Given the description of an element on the screen output the (x, y) to click on. 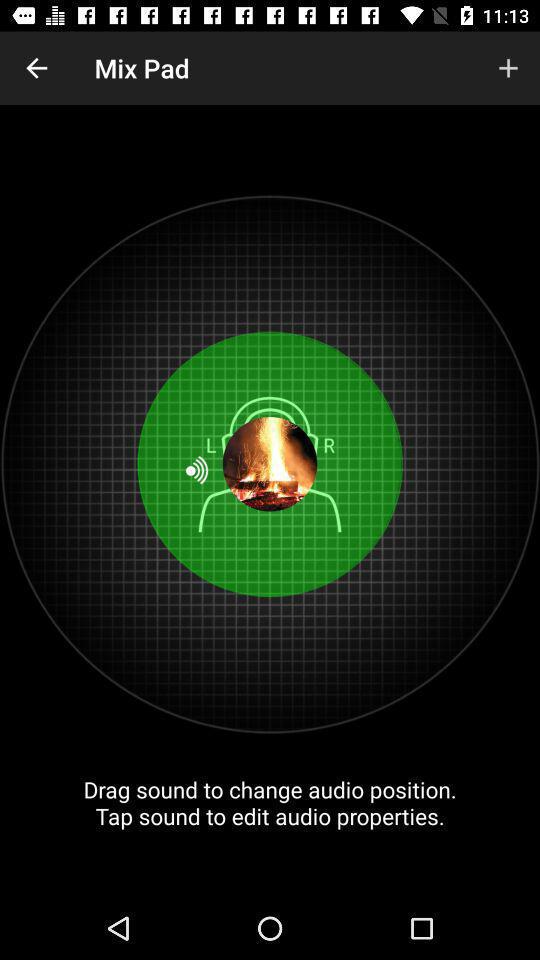
select app next to the mix pad app (36, 68)
